Given the description of an element on the screen output the (x, y) to click on. 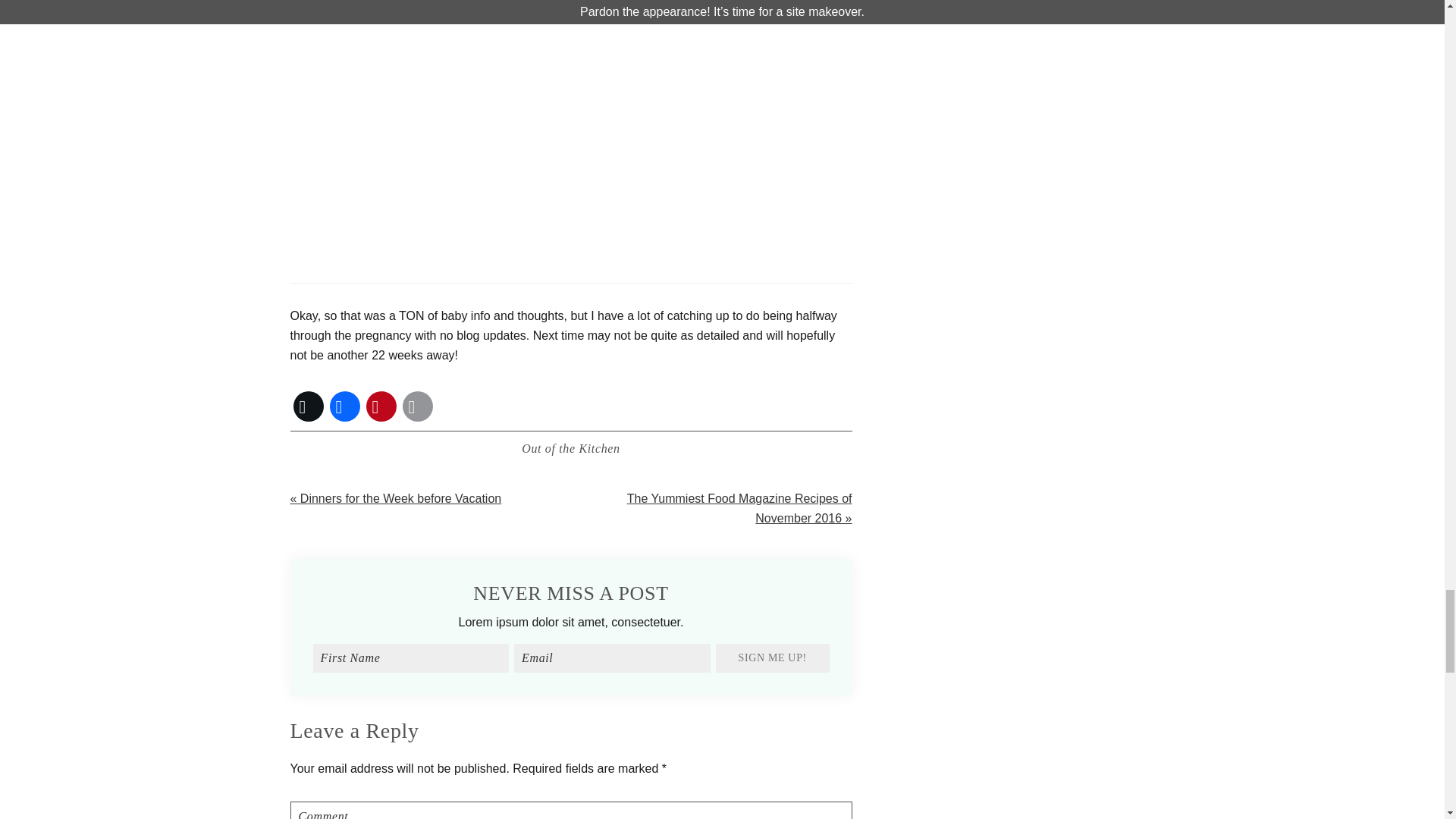
Facebook (344, 406)
SIGN ME UP! (772, 657)
Email This (416, 406)
Pinterest (380, 406)
